Given the description of an element on the screen output the (x, y) to click on. 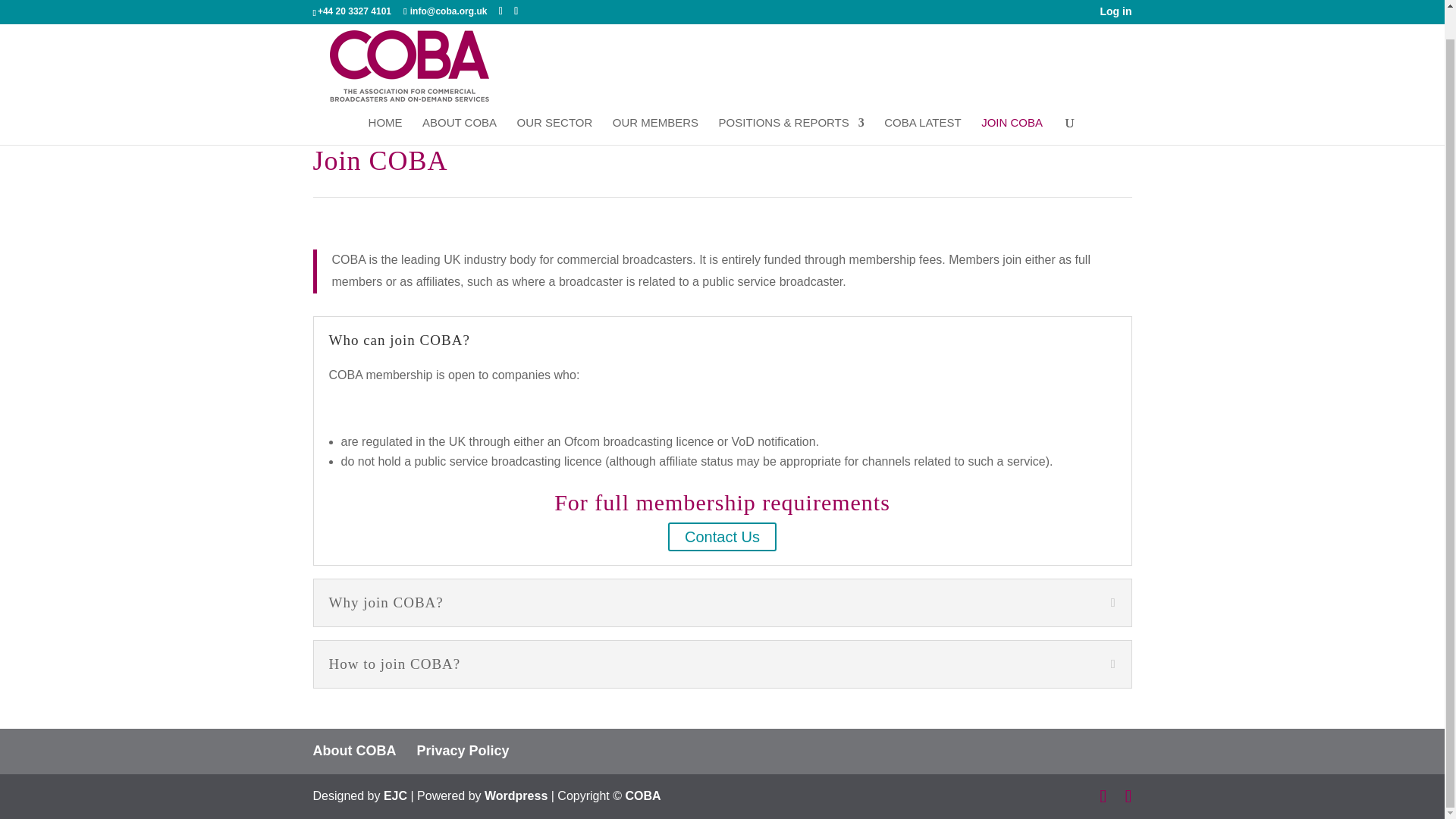
About COBA (354, 750)
Contact Us (722, 536)
COBA LATEST (921, 101)
OUR MEMBERS (655, 101)
JOIN COBA (1011, 101)
EJC (395, 795)
OUR SECTOR (554, 101)
Privacy Policy (462, 750)
HOME (385, 101)
EJC: Your business. Your technology. Supported. (395, 795)
